Given the description of an element on the screen output the (x, y) to click on. 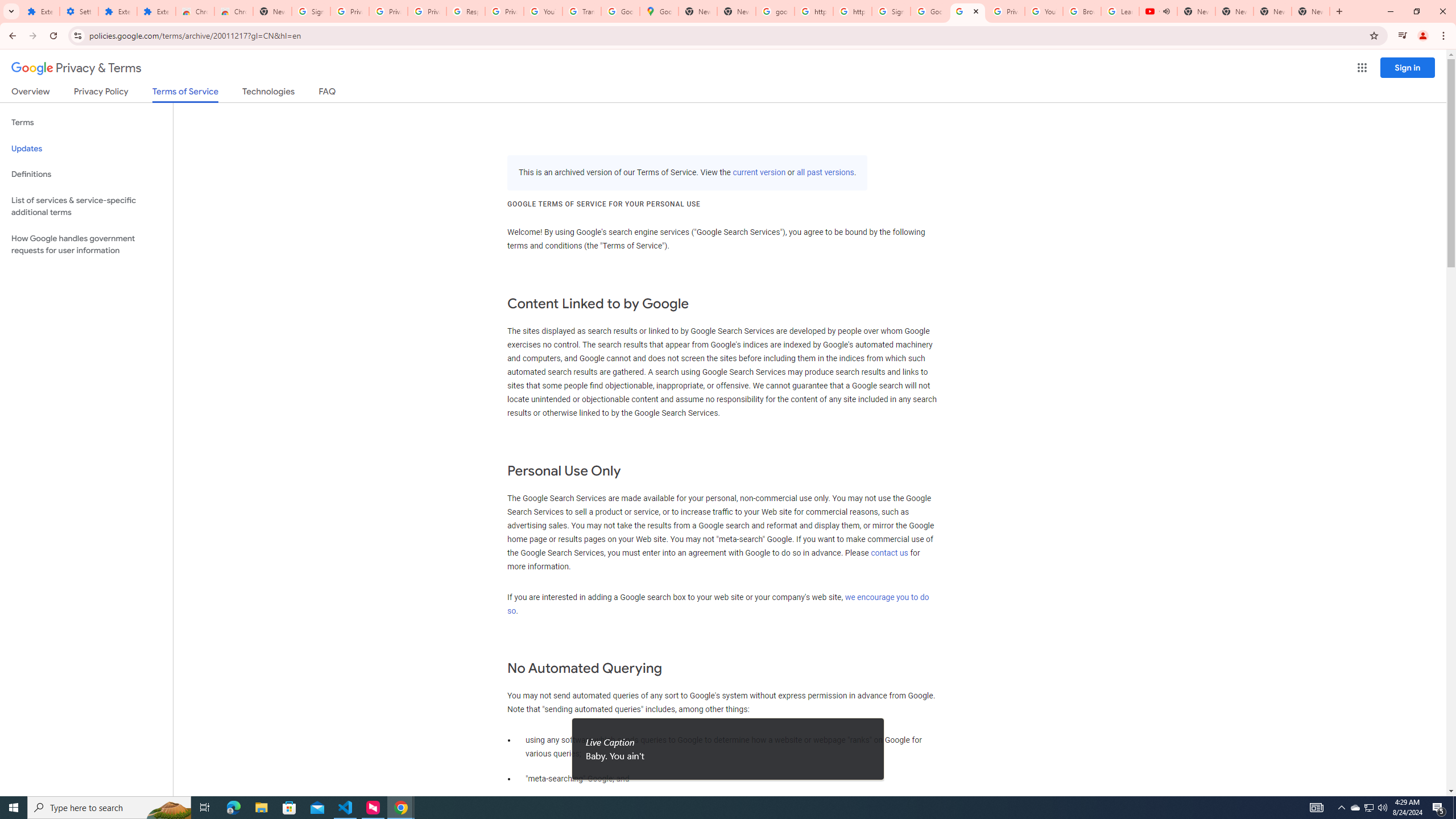
https://scholar.google.com/ (813, 11)
New Tab (272, 11)
contact us (889, 552)
https://scholar.google.com/ (852, 11)
Sign in - Google Accounts (890, 11)
